Given the description of an element on the screen output the (x, y) to click on. 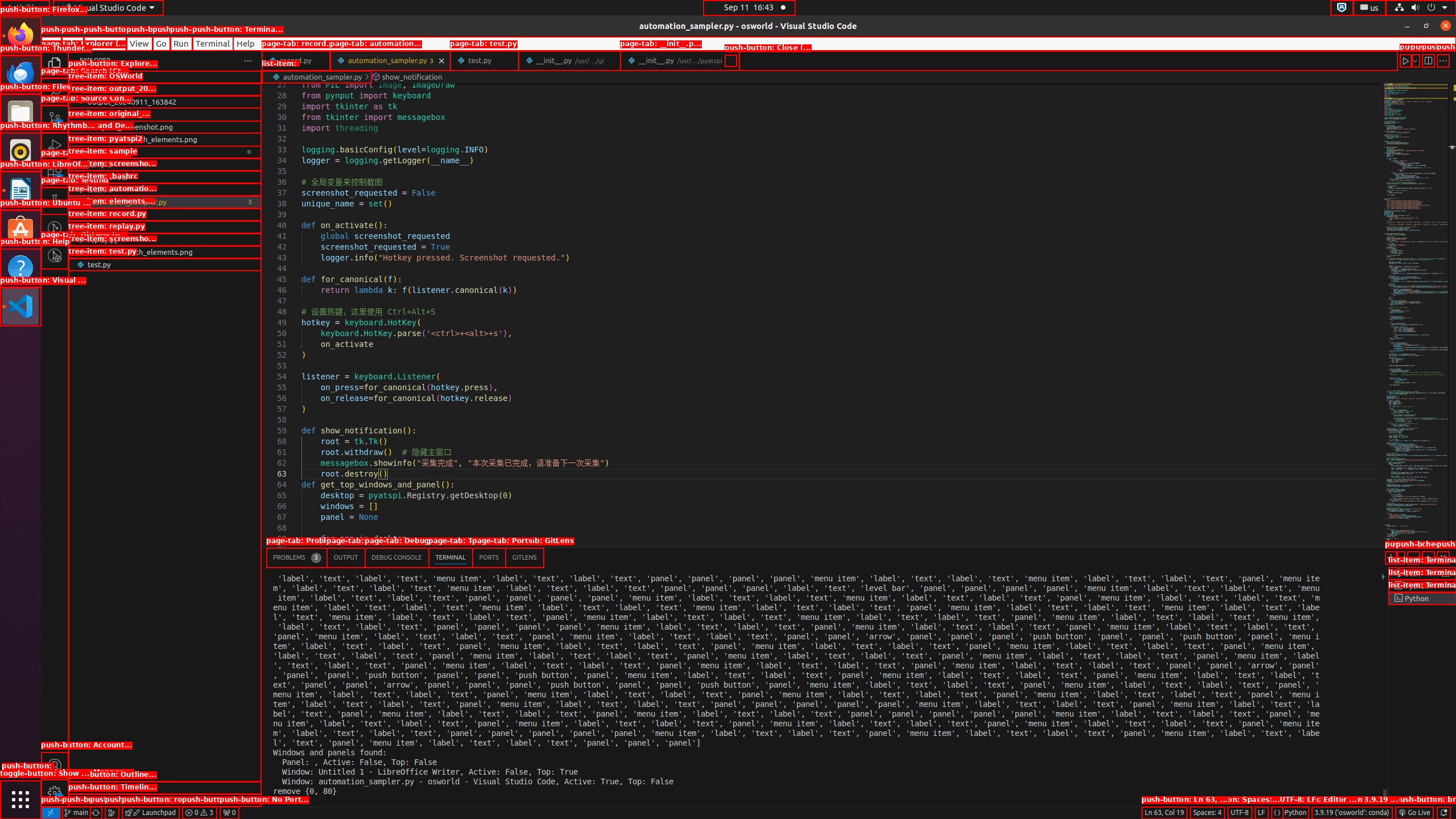
OSWorld (Git) - main, Checkout Branch/Tag... Element type: push-button (75, 812)
Terminal (Ctrl+`) Element type: page-tab (450, 557)
Problems (Ctrl+Shift+M) - Total 3 Problems Element type: page-tab (296, 557)
